Given the description of an element on the screen output the (x, y) to click on. 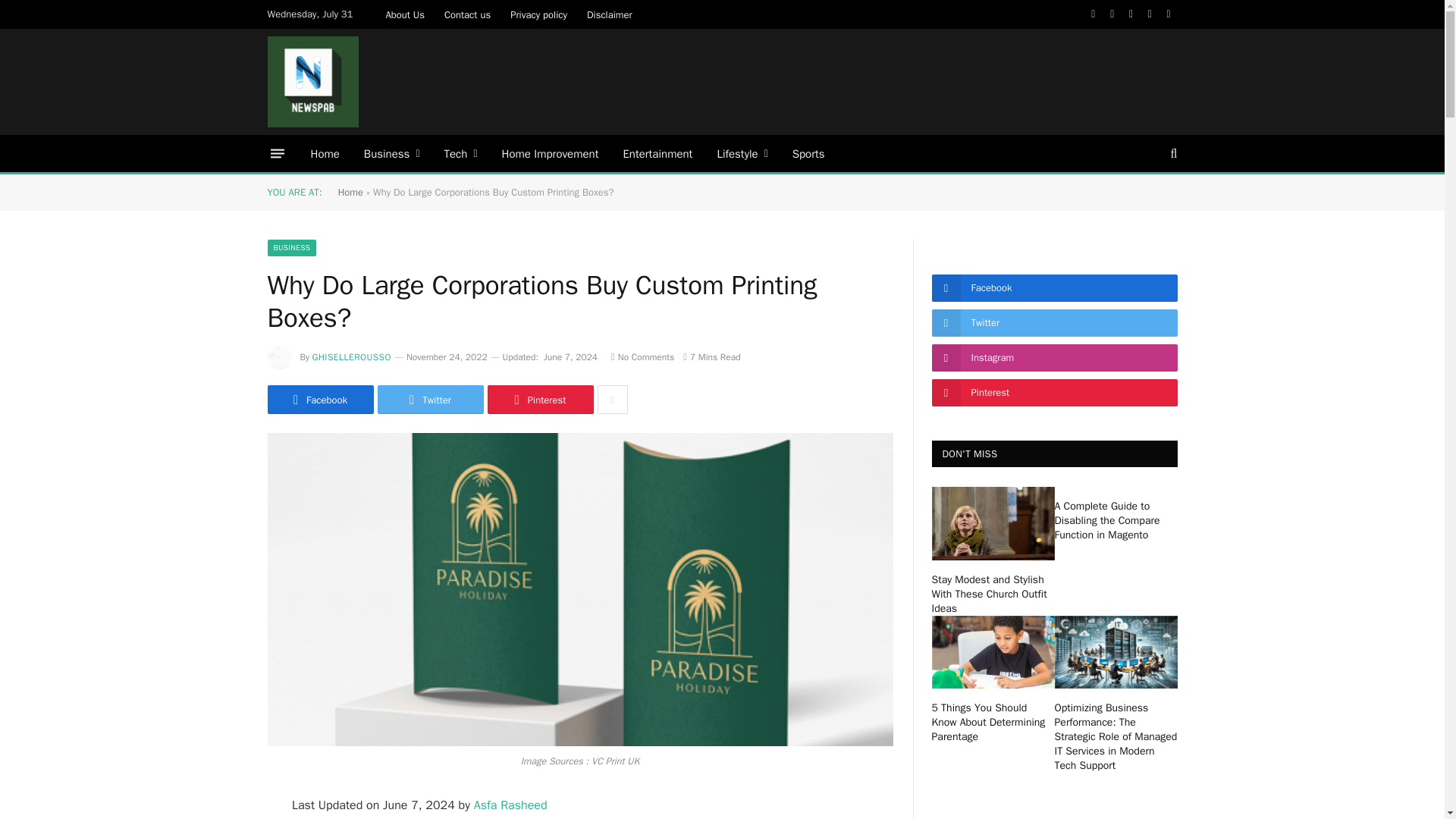
Business (392, 153)
Disclaimer (609, 14)
Privacy policy (538, 14)
Home (325, 153)
Contact us (466, 14)
About Us (404, 14)
